Given the description of an element on the screen output the (x, y) to click on. 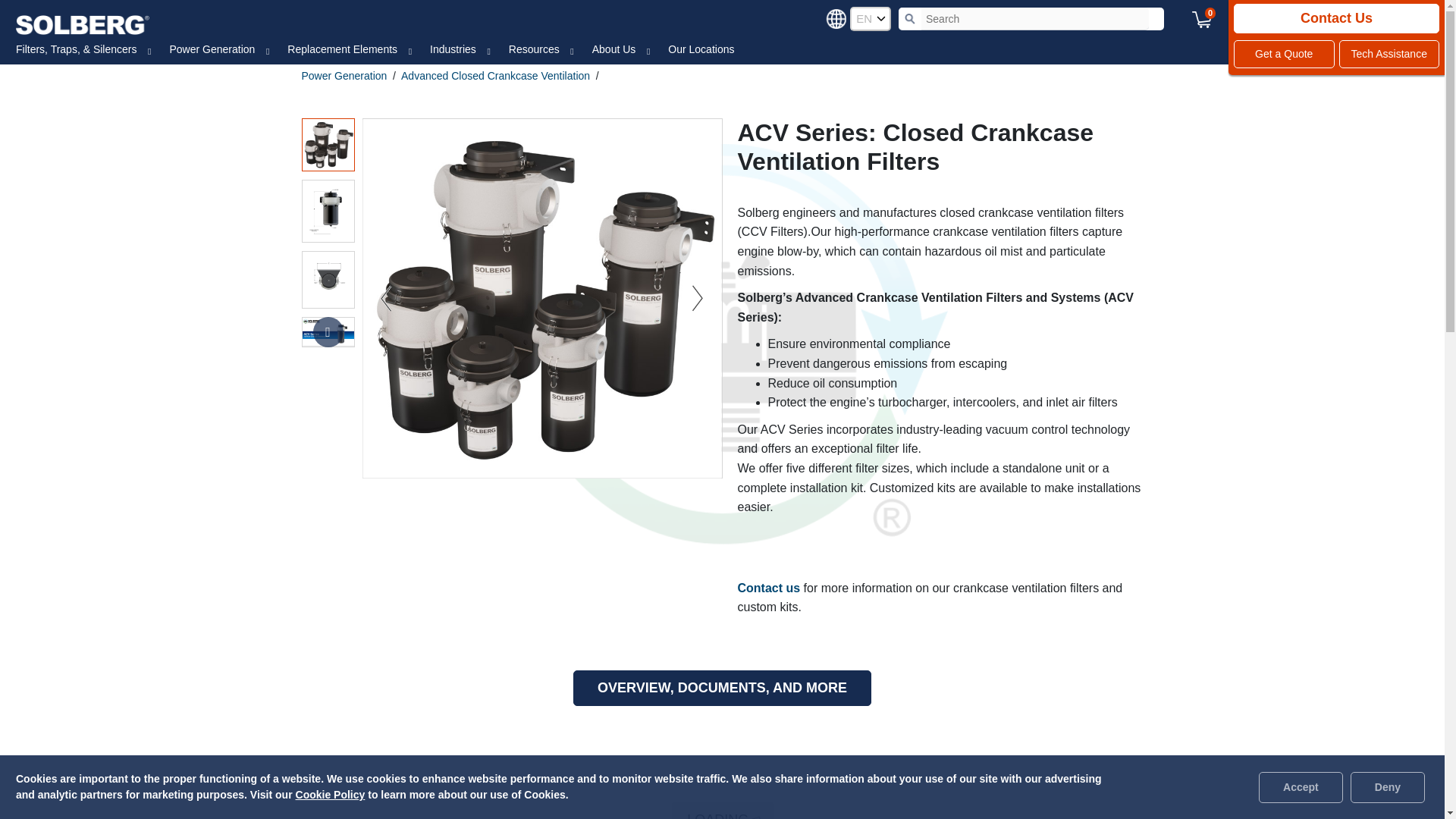
0 (1201, 18)
Deny (1388, 787)
Search (909, 18)
Search (909, 18)
EN (870, 18)
Accept (1300, 787)
Skip to main Content (13, 65)
